Given the description of an element on the screen output the (x, y) to click on. 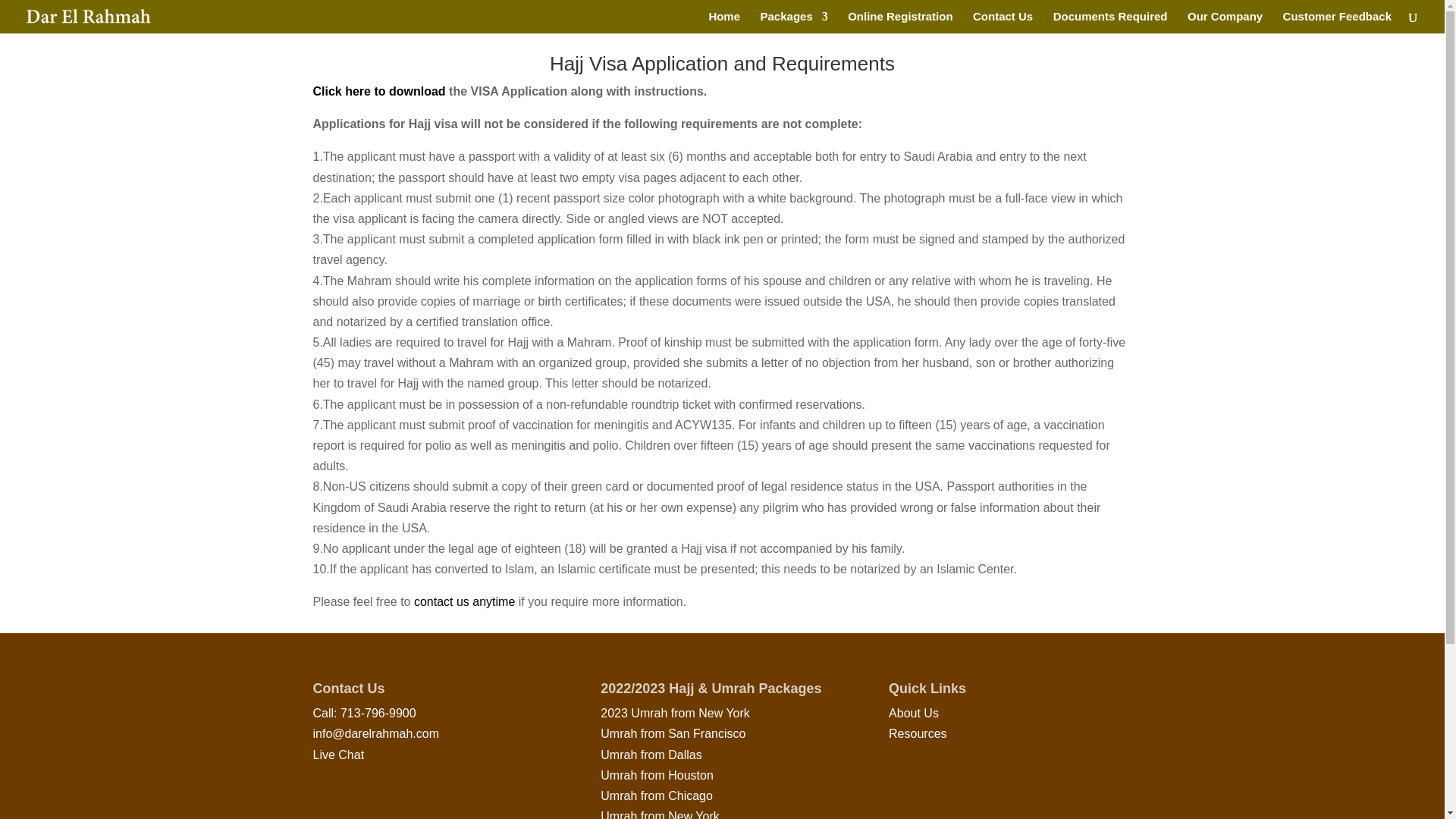
About Us (913, 712)
Our Company (1225, 22)
Customer Feedback (1336, 22)
Live Chat (338, 754)
contact us anytime (464, 601)
Umrah from Houston (656, 775)
Home (723, 22)
Packages (794, 22)
Umrah from Dallas (650, 754)
Umrah from San Francisco (672, 733)
Contact Us (1002, 22)
Online Registration (899, 22)
Click here to download (379, 91)
2023 Umrah from New York (674, 712)
Documents Required (1109, 22)
